Given the description of an element on the screen output the (x, y) to click on. 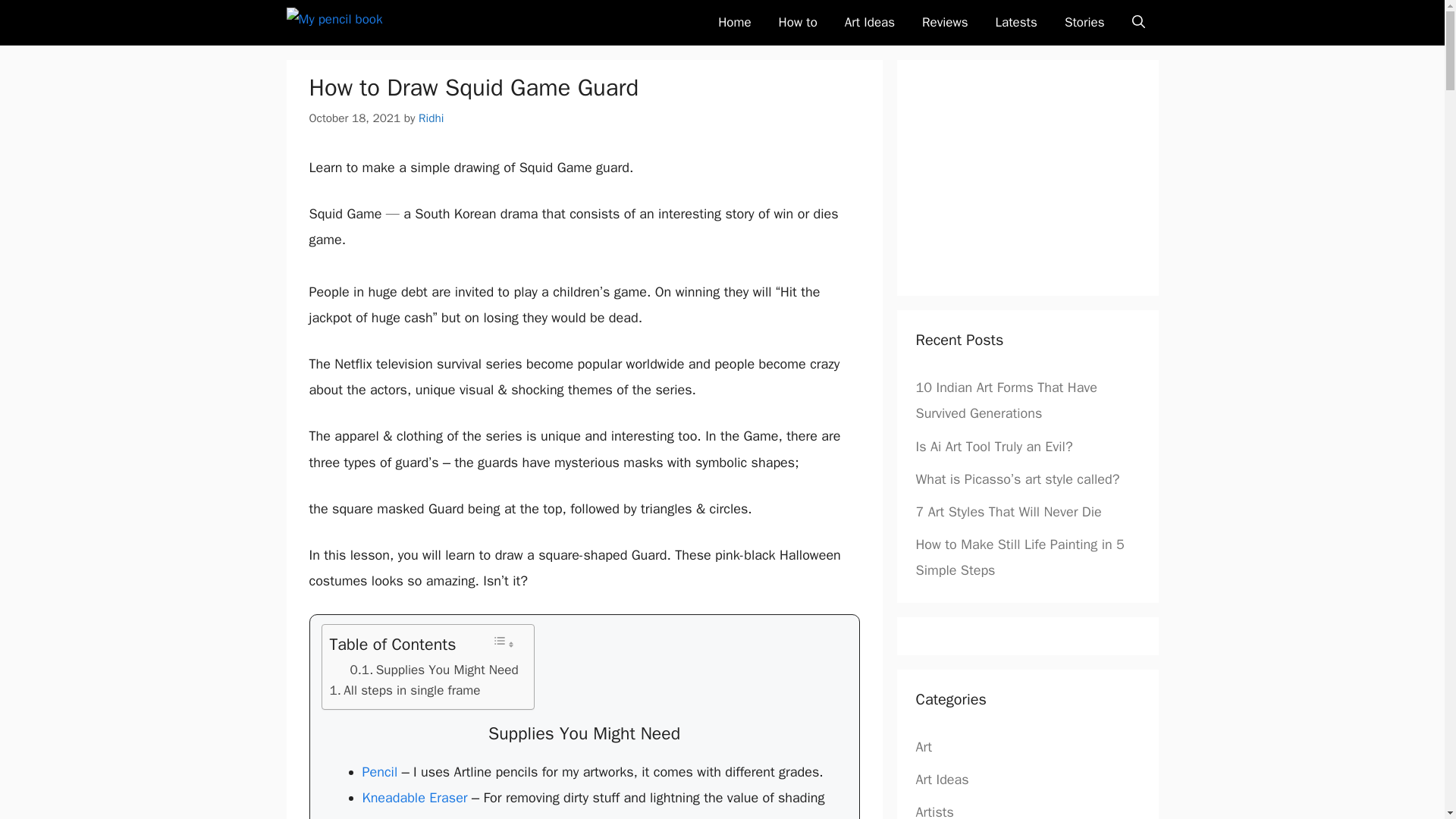
Latests (1016, 22)
Ridhi (431, 118)
My pencil book (362, 22)
Home (734, 22)
All steps in single frame (404, 690)
Art Ideas (869, 22)
View all posts by Ridhi (431, 118)
Supplies You Might Need (434, 670)
Supplies You Might Need (434, 670)
All steps in single frame (404, 690)
